Given the description of an element on the screen output the (x, y) to click on. 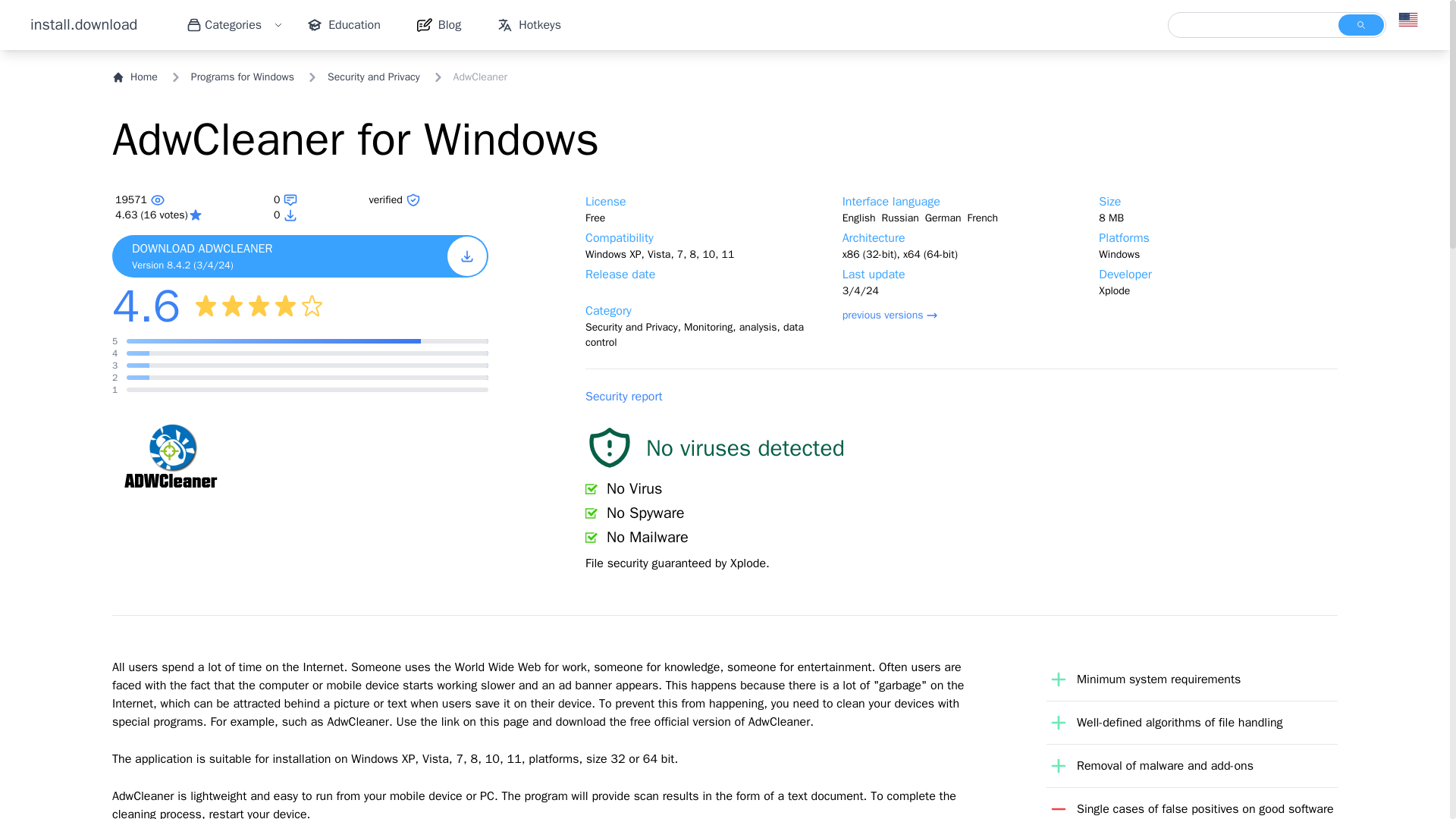
install.download (83, 25)
